Given the description of an element on the screen output the (x, y) to click on. 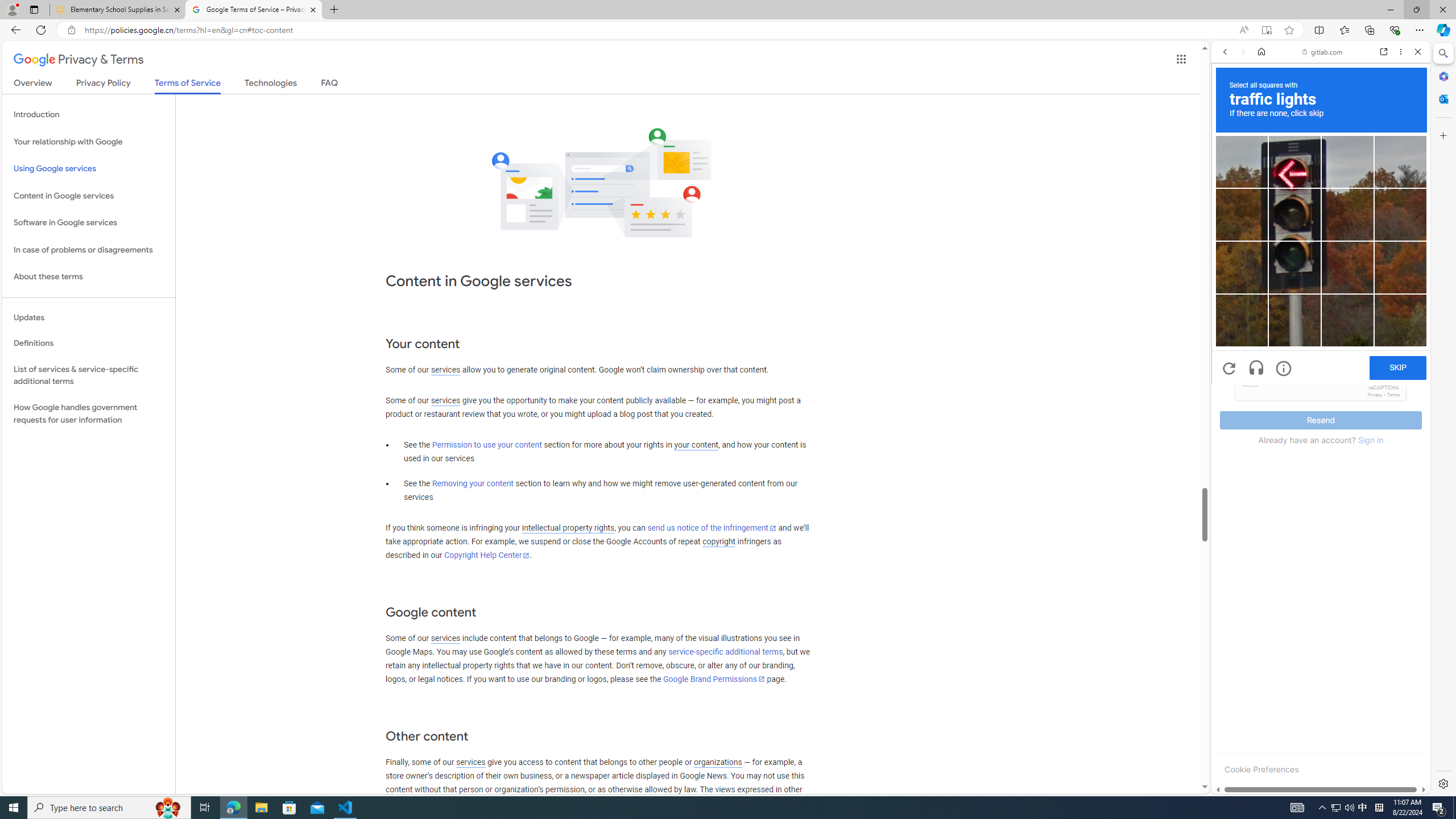
Get an audio challenge (1256, 368)
Login (1320, 281)
Dashboard (1320, 364)
Resend confirmation instructions (1321, 252)
About GitLab (1320, 337)
